Given the description of an element on the screen output the (x, y) to click on. 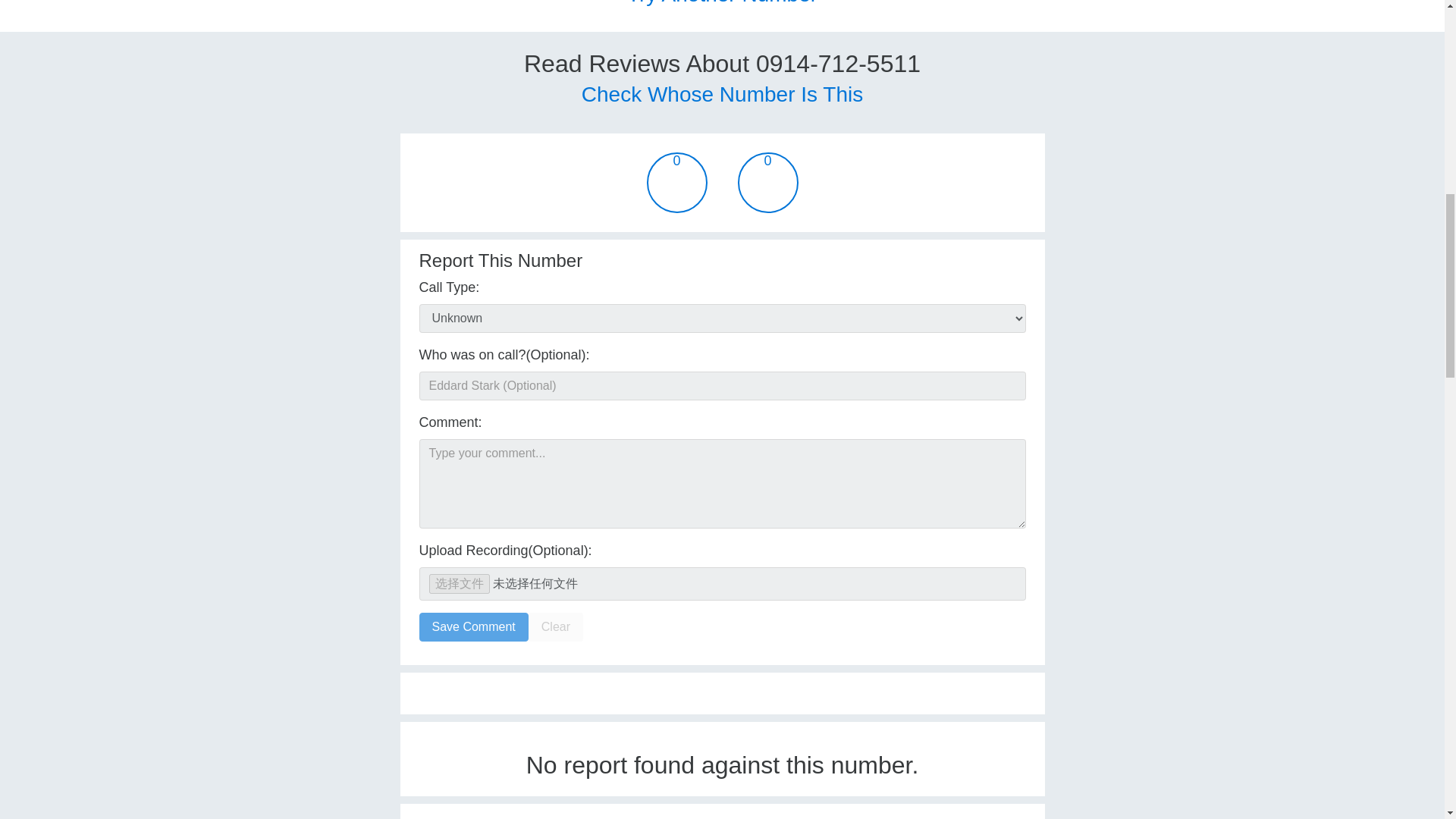
0 (676, 182)
Save Comment (473, 626)
0 (766, 182)
Check Whose Number Is This (721, 94)
Clear (555, 626)
